Given the description of an element on the screen output the (x, y) to click on. 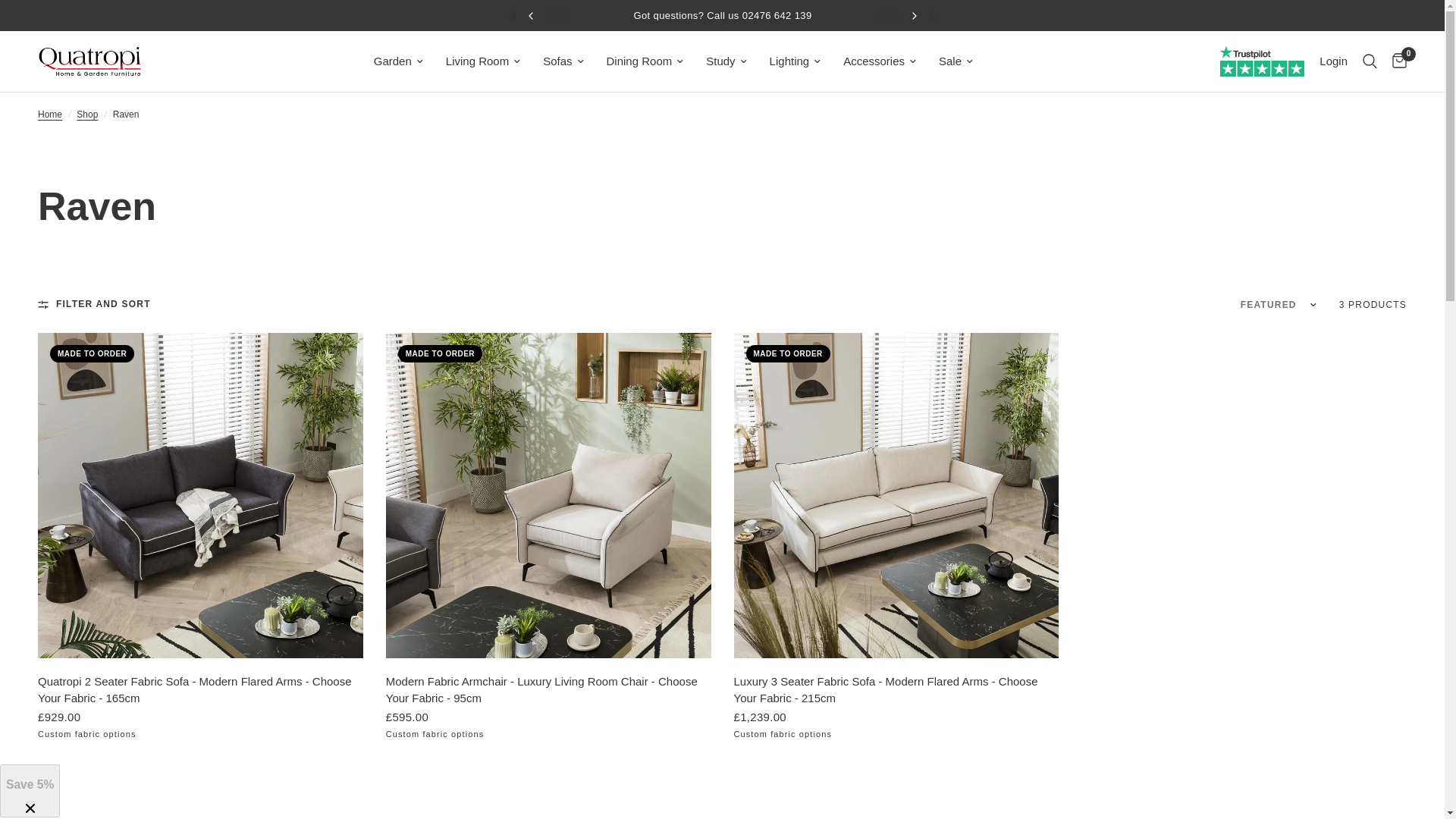
Got questions? Call us 02476 642 139 (721, 15)
